Given the description of an element on the screen output the (x, y) to click on. 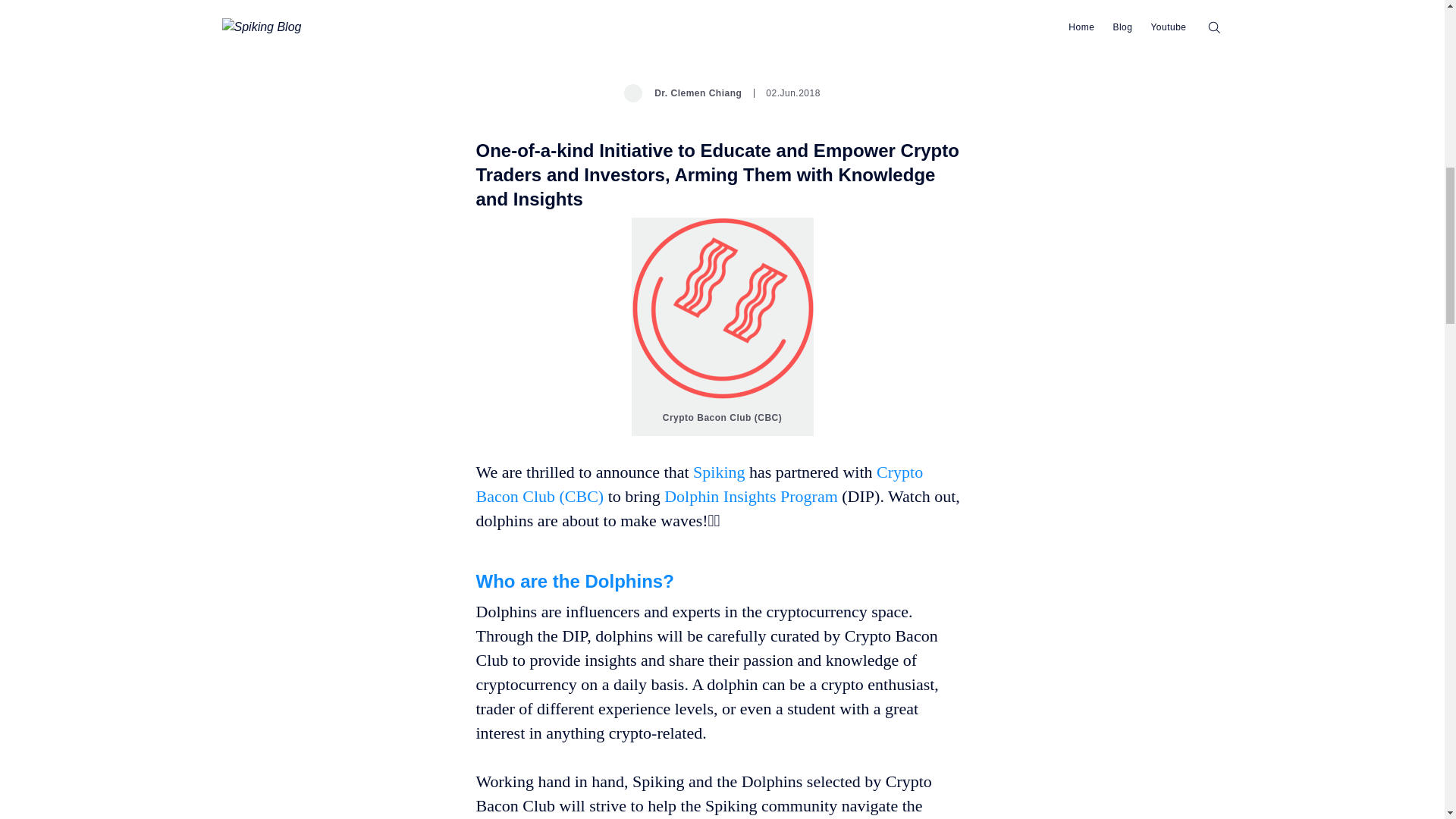
Who are the Dolphins? (575, 580)
Dolphin Insights Program (750, 496)
02 June 2018 (787, 92)
Spiking (721, 471)
Dr. Clemen Chiang (682, 92)
